Given the description of an element on the screen output the (x, y) to click on. 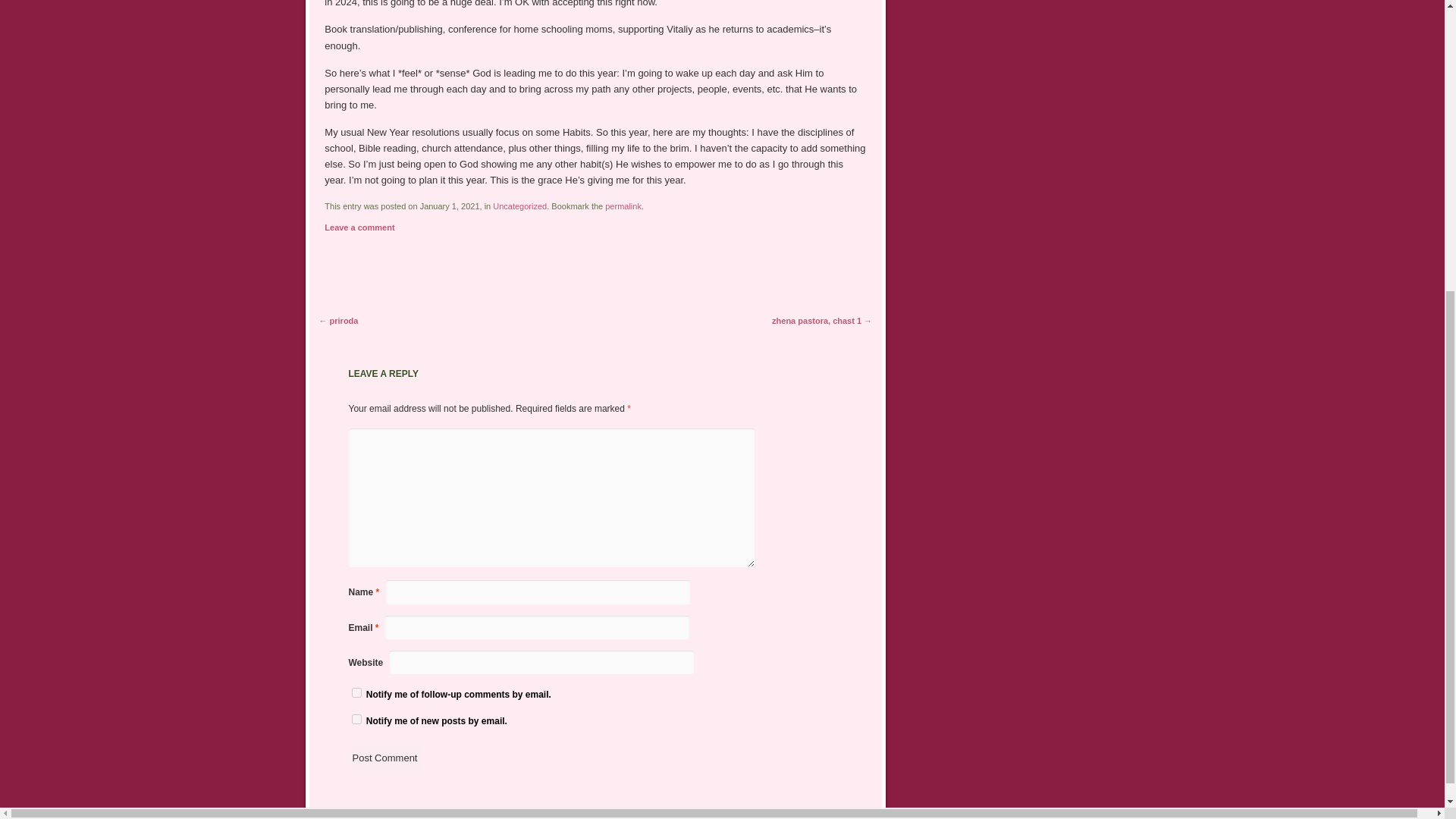
Post Comment (385, 399)
subscribe (356, 360)
Post Comment (385, 399)
subscribe (356, 334)
